Given the description of an element on the screen output the (x, y) to click on. 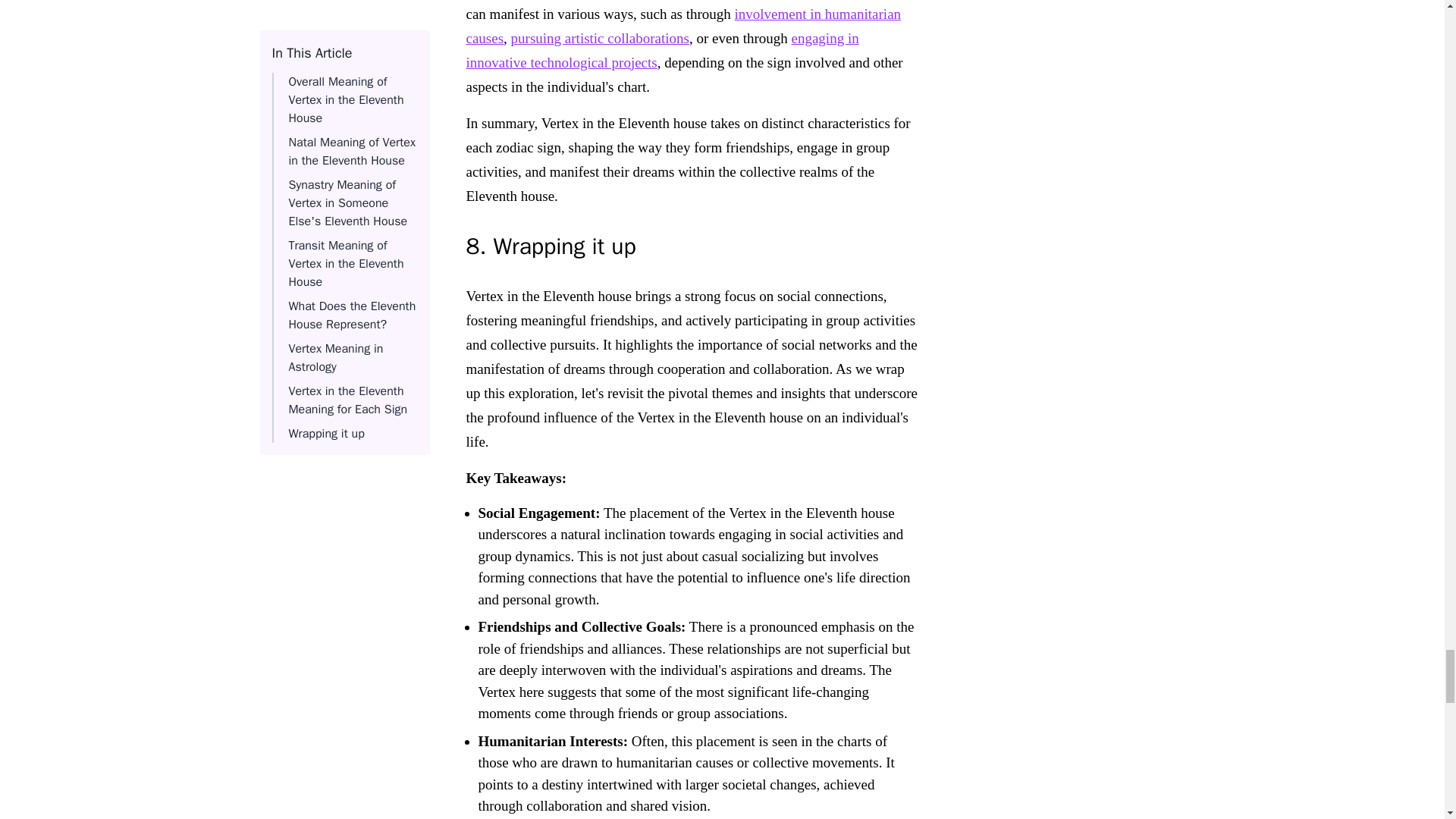
engaging in innovative technological projects (662, 50)
involvement in humanitarian causes (683, 25)
pursuing artistic collaborations (599, 37)
